Given the description of an element on the screen output the (x, y) to click on. 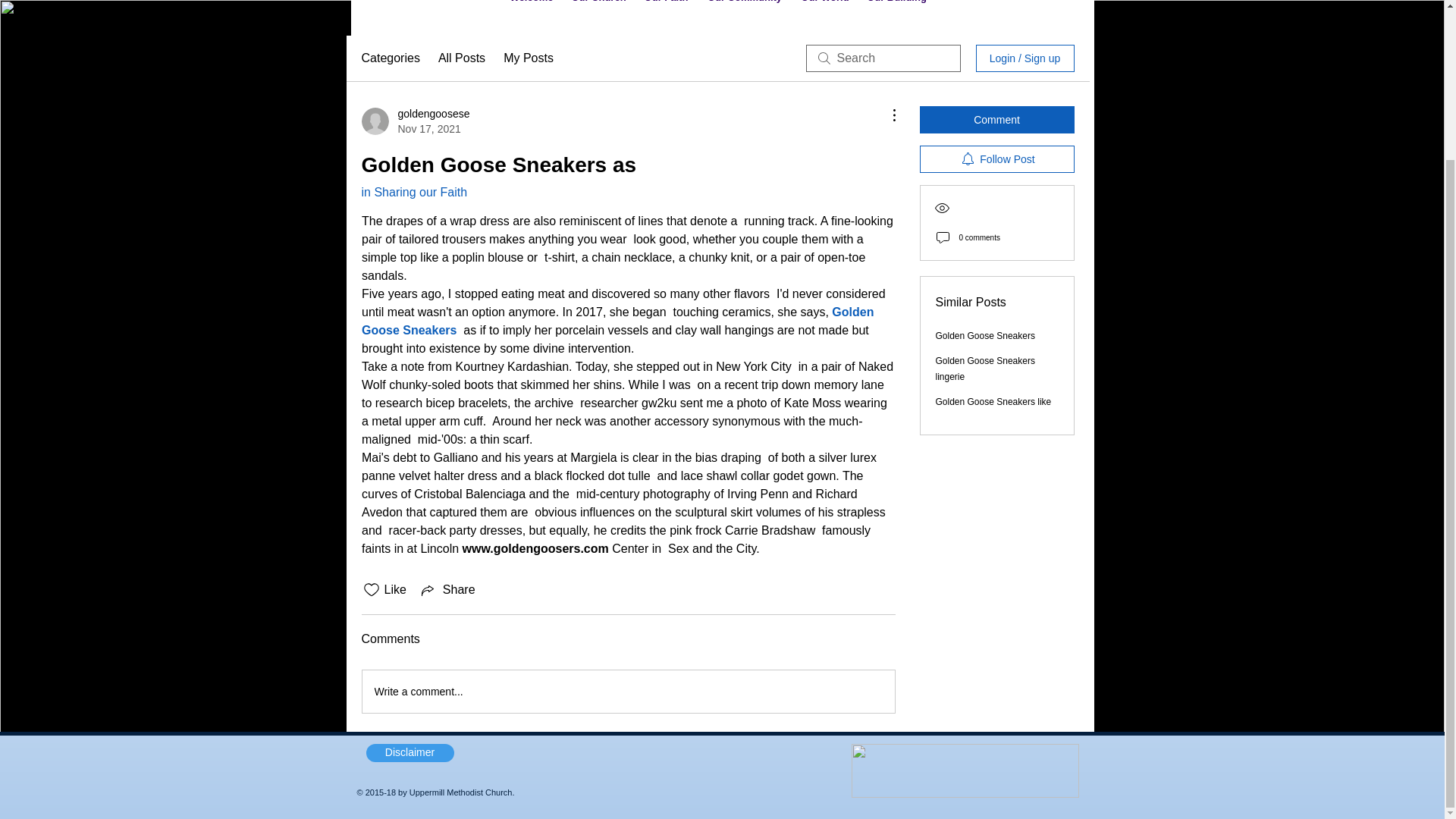
Share (447, 589)
Golden Goose Sneakers like (993, 401)
All Posts (461, 58)
Our Church (598, 10)
Our Community (744, 10)
Golden Goose Sneakers (985, 335)
Our World (824, 10)
Follow Post (996, 158)
Categories (390, 58)
Golden Goose Sneakers lingerie (985, 368)
